Given the description of an element on the screen output the (x, y) to click on. 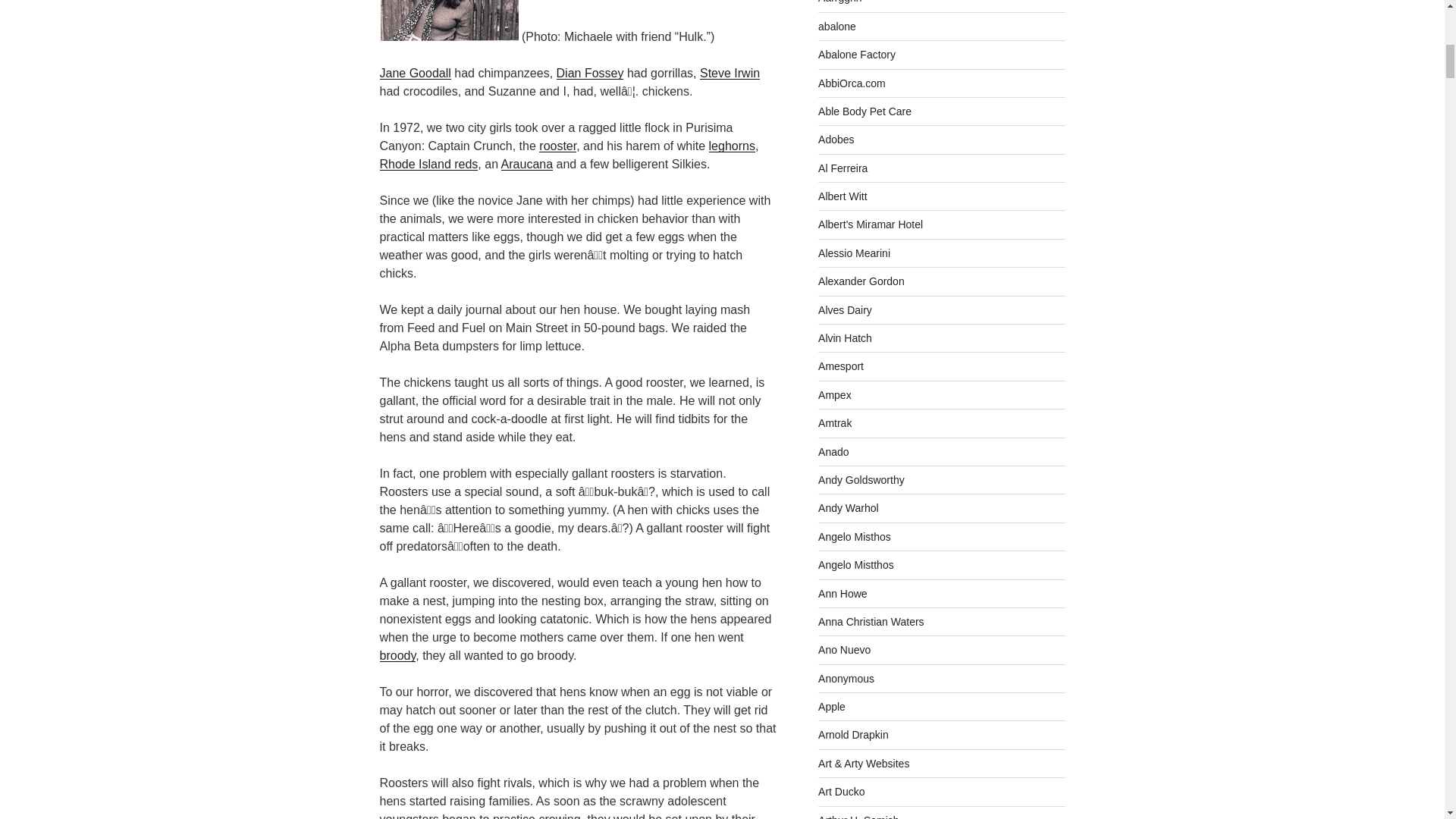
Jane Goodall (413, 72)
Steve Irwin (730, 72)
rooster (557, 145)
leghorns (732, 145)
Dian Fossey (590, 72)
broody (560, 664)
Rhode Island reds (427, 164)
hulk.jpeg (448, 36)
Araucana (526, 164)
